Given the description of an element on the screen output the (x, y) to click on. 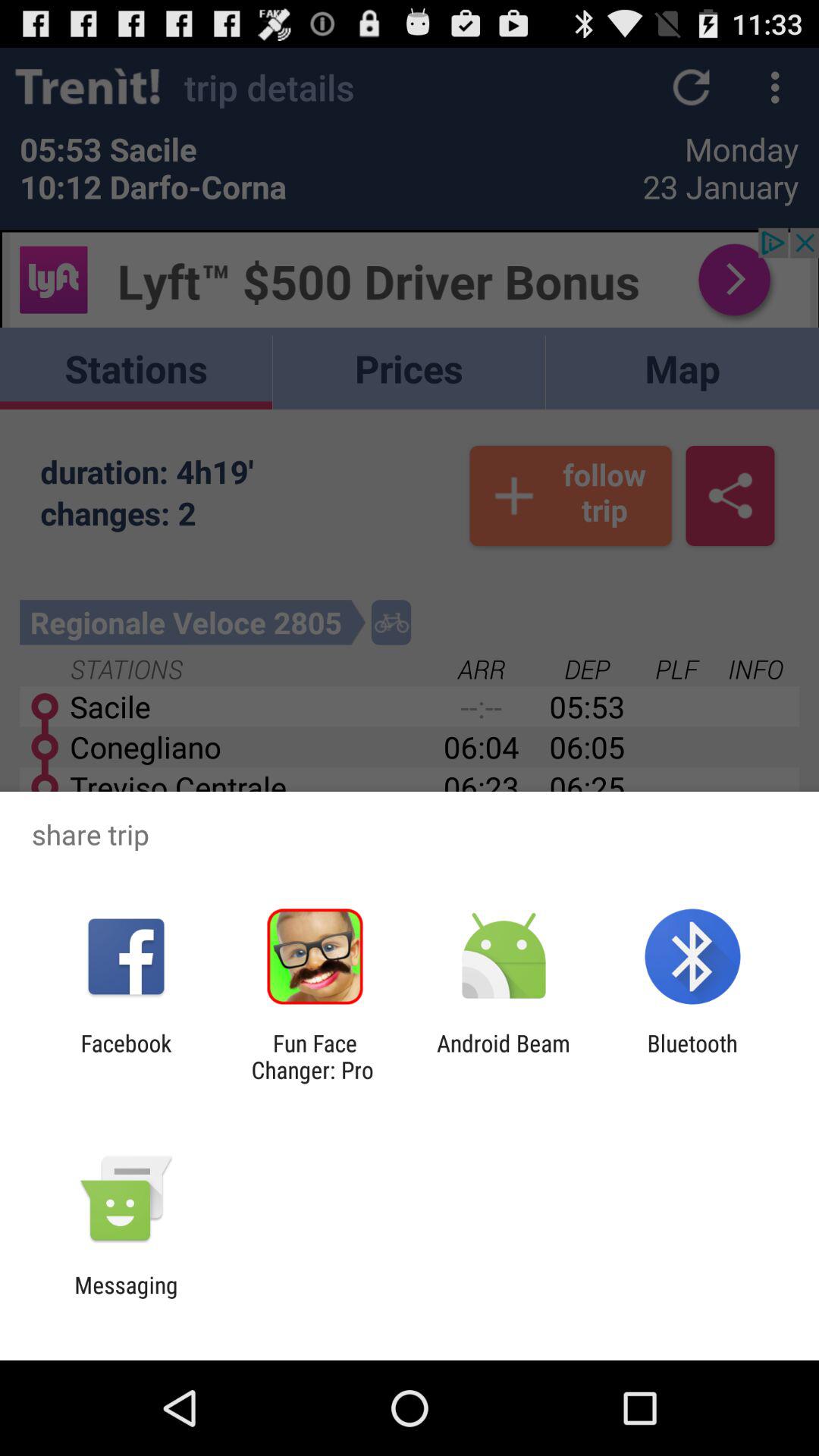
choose bluetooth (692, 1056)
